Given the description of an element on the screen output the (x, y) to click on. 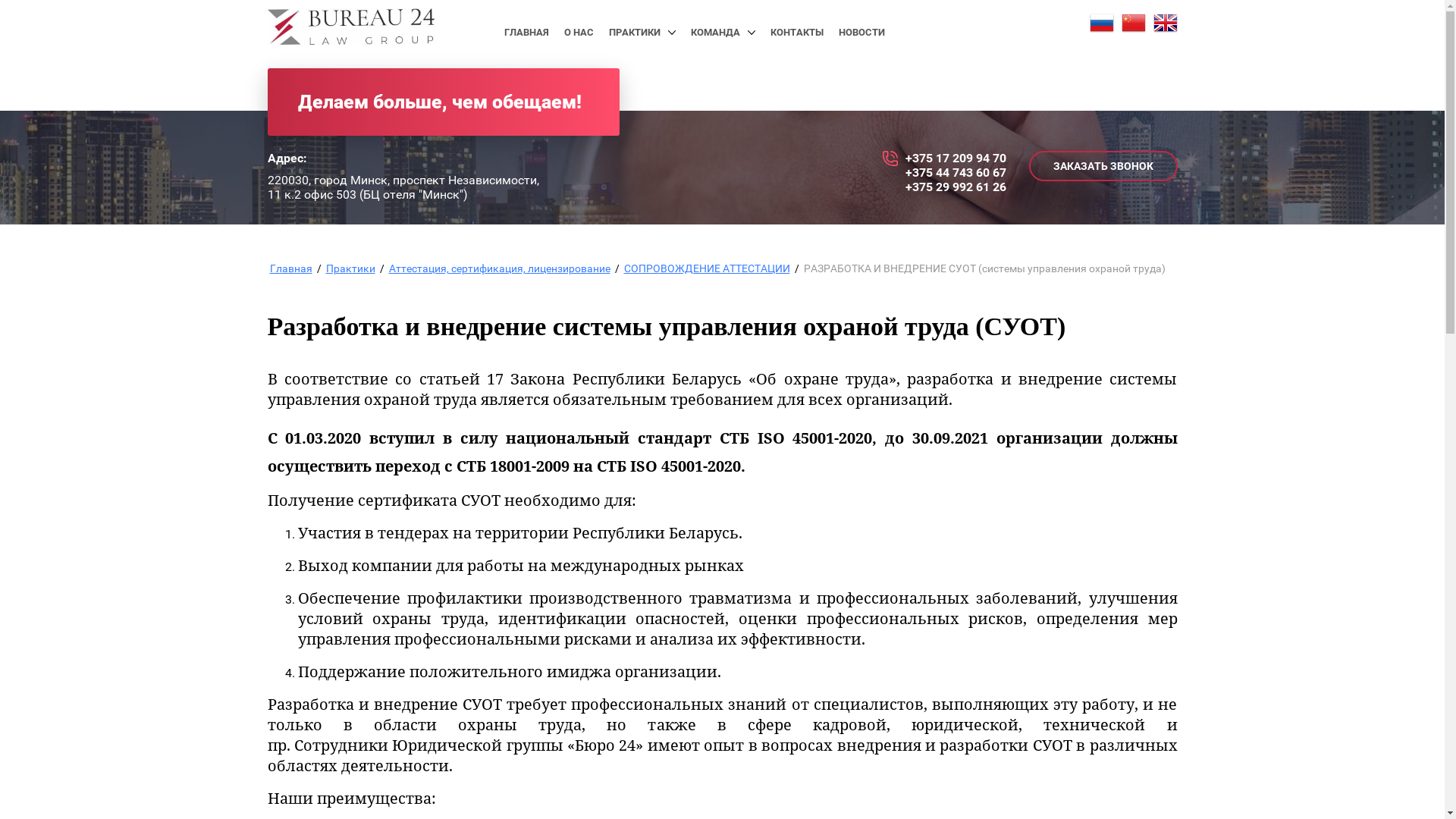
+375 44 743 60 67 Element type: text (955, 172)
+375 17 209 94 70 Element type: text (955, 157)
+375 29 992 61 26 Element type: text (955, 186)
